Given the description of an element on the screen output the (x, y) to click on. 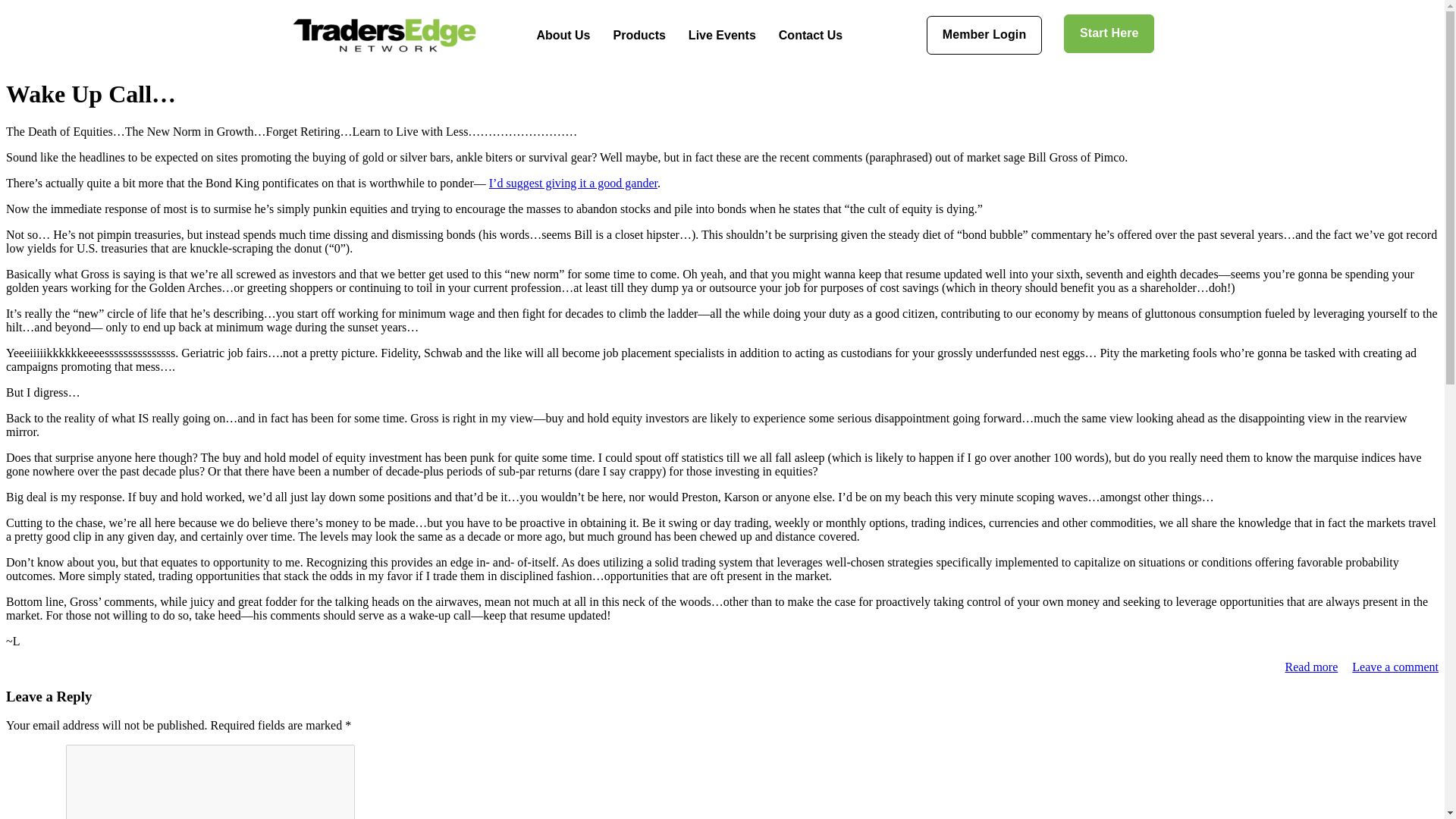
Start Here (1109, 33)
About Us (562, 35)
Member Login (984, 34)
Products (639, 35)
Read more (1311, 666)
Contact Us (810, 35)
Live Events (722, 35)
